Given the description of an element on the screen output the (x, y) to click on. 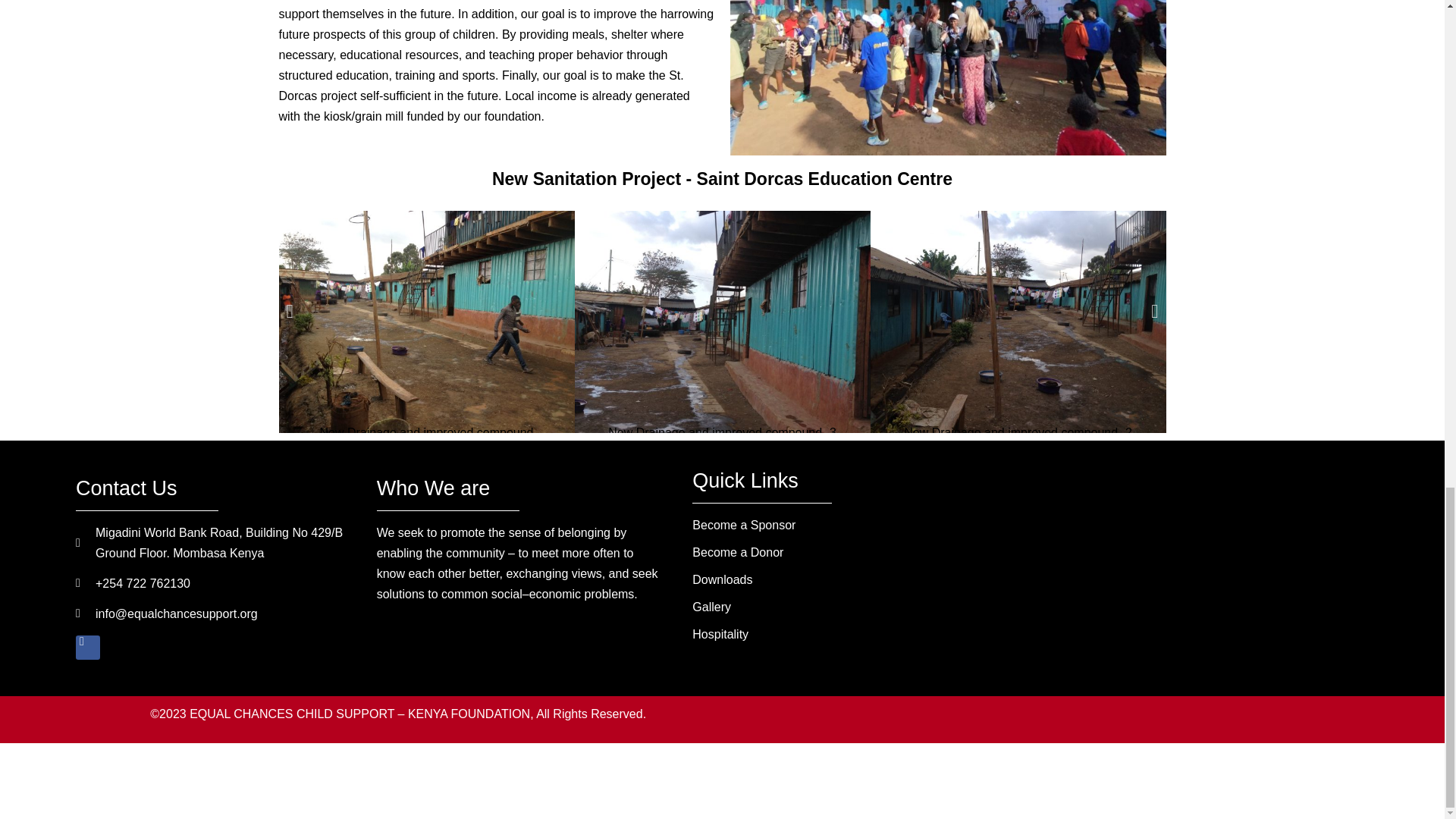
Become a Sponsor (832, 525)
Become a Donor (832, 552)
Hospitality (832, 634)
Gallery (832, 607)
Downloads (832, 579)
